Given the description of an element on the screen output the (x, y) to click on. 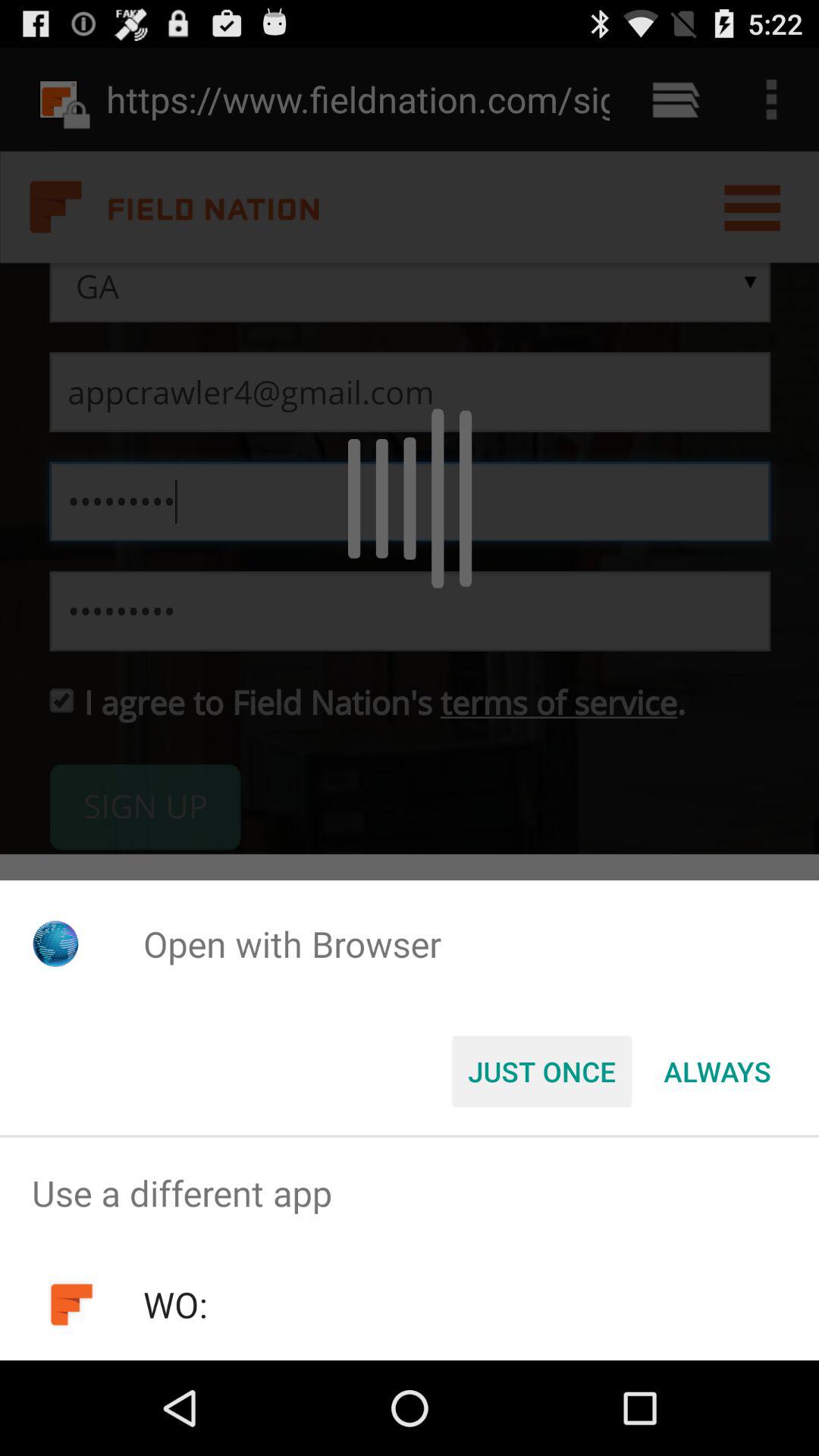
open item below the open with browser (541, 1071)
